Given the description of an element on the screen output the (x, y) to click on. 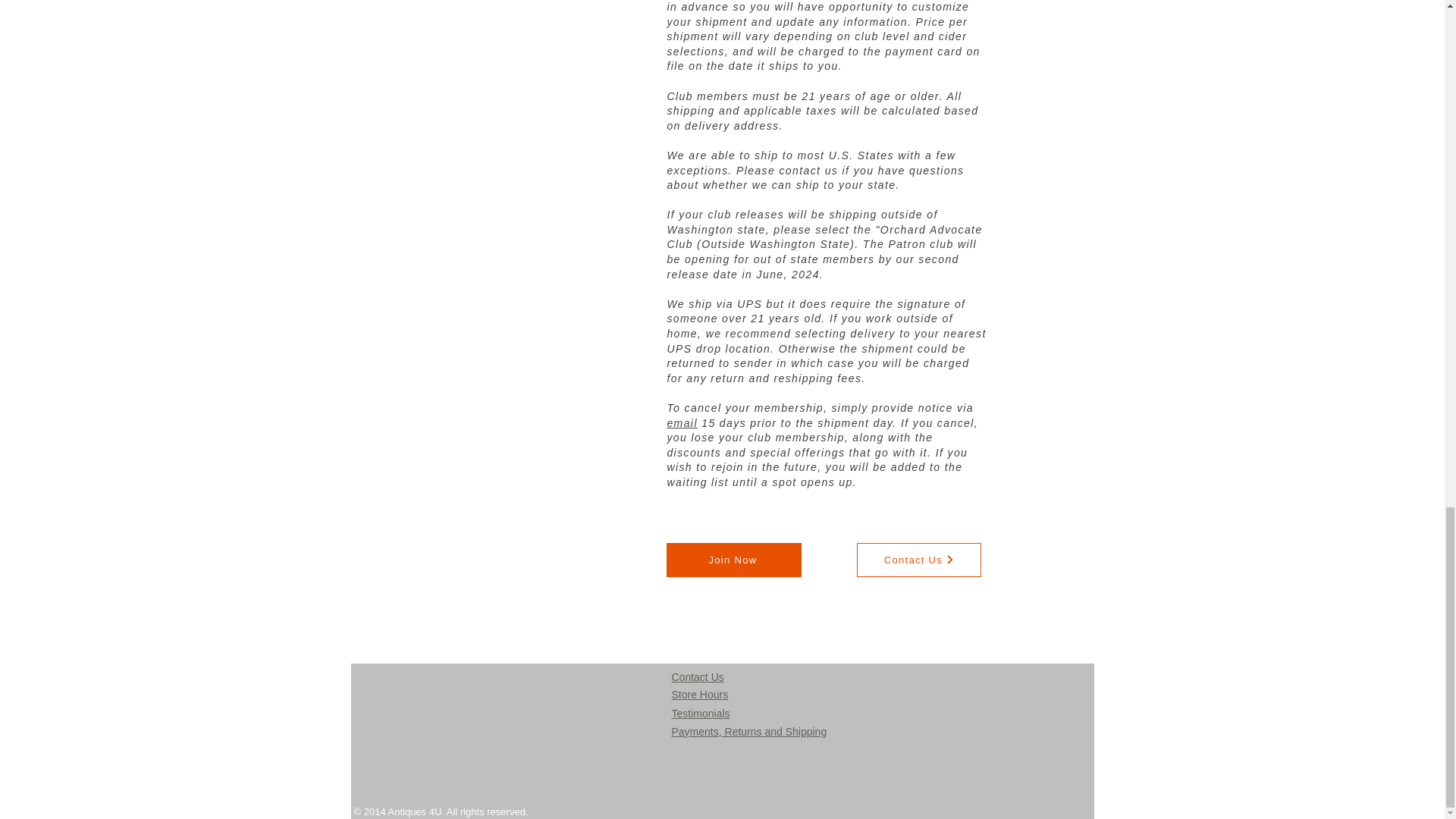
Join Now (734, 559)
email (681, 422)
Contact Us (697, 676)
Store Hours (700, 695)
Contact Us (919, 559)
Testimonials (700, 713)
Payments, Returns and Shipping (749, 731)
